Given the description of an element on the screen output the (x, y) to click on. 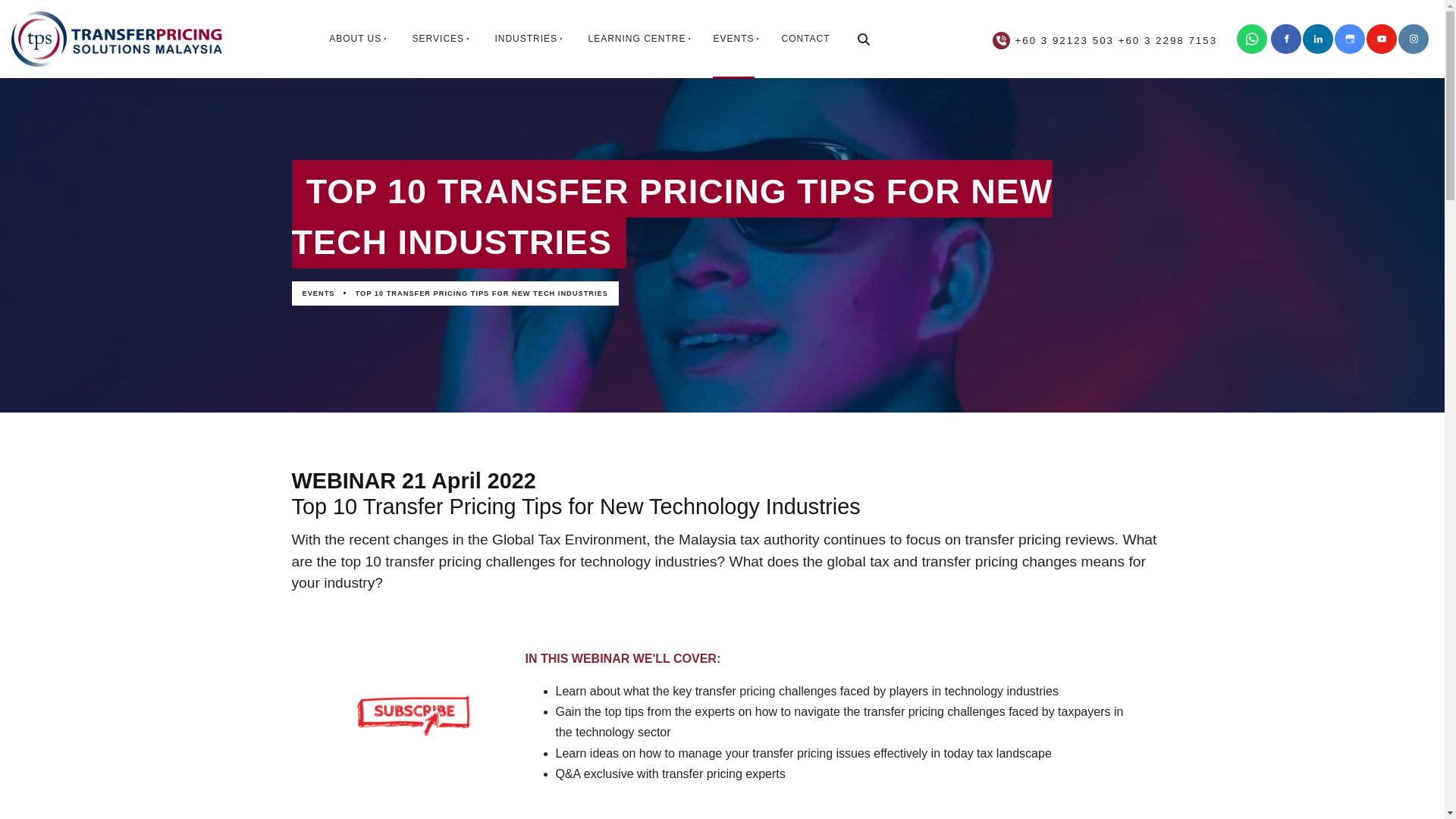
CONTACT (805, 38)
Youtube (1381, 39)
LEARNING CENTRE (634, 38)
SERVICES (435, 38)
INDUSTRIES (523, 38)
Facebook (1286, 39)
Instagram (1412, 39)
EVENTS (732, 38)
ABOUT US (353, 38)
LinkedIn (1318, 39)
